Given the description of an element on the screen output the (x, y) to click on. 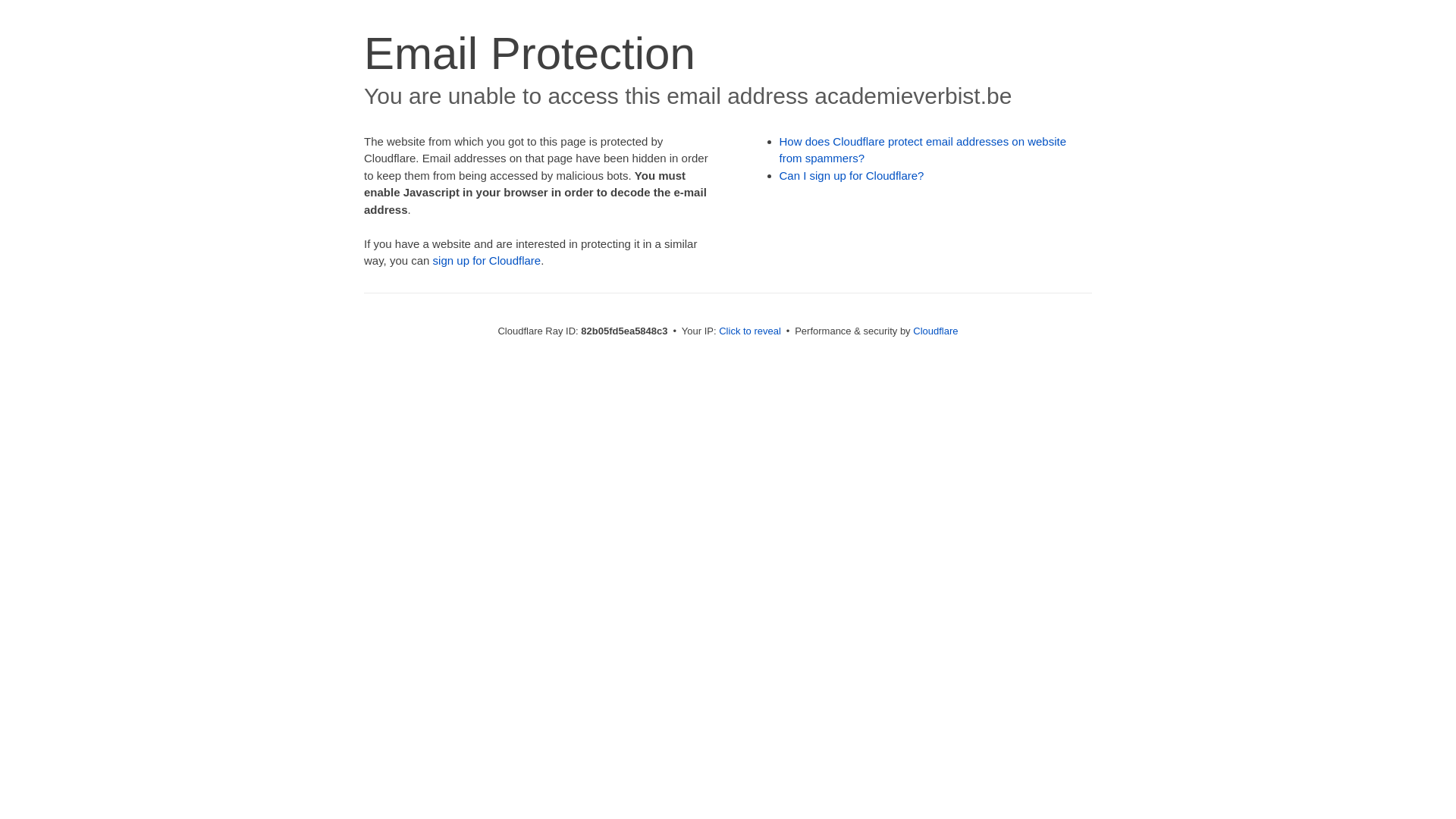
Cloudflare Element type: text (935, 330)
Can I sign up for Cloudflare? Element type: text (851, 175)
Click to reveal Element type: text (749, 330)
sign up for Cloudflare Element type: text (487, 260)
